Given the description of an element on the screen output the (x, y) to click on. 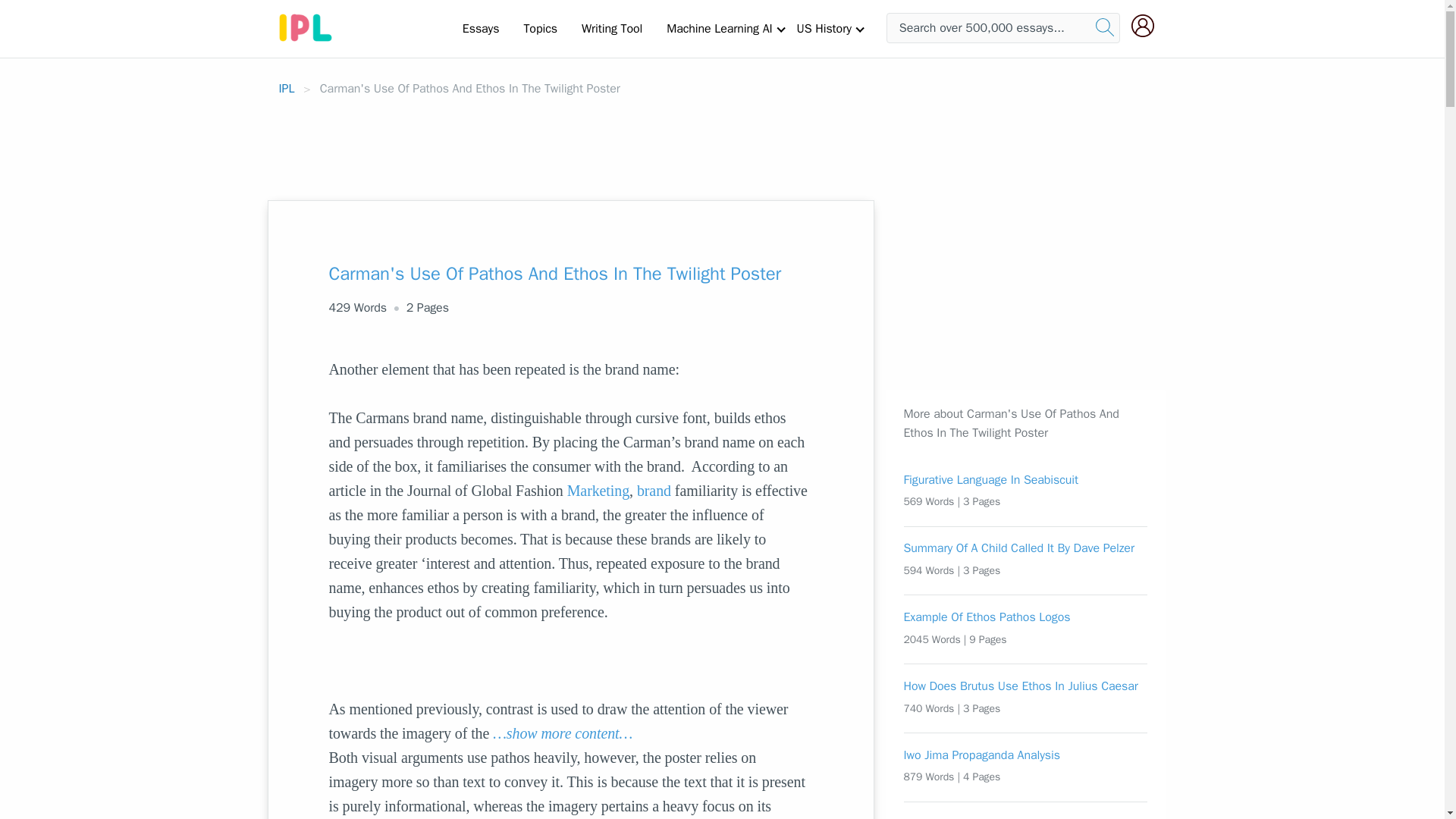
Topics (540, 28)
Writing Tool (611, 28)
Essays (480, 28)
US History (823, 28)
IPL (287, 88)
brand (654, 490)
Marketing (597, 490)
Machine Learning AI (718, 28)
